Given the description of an element on the screen output the (x, y) to click on. 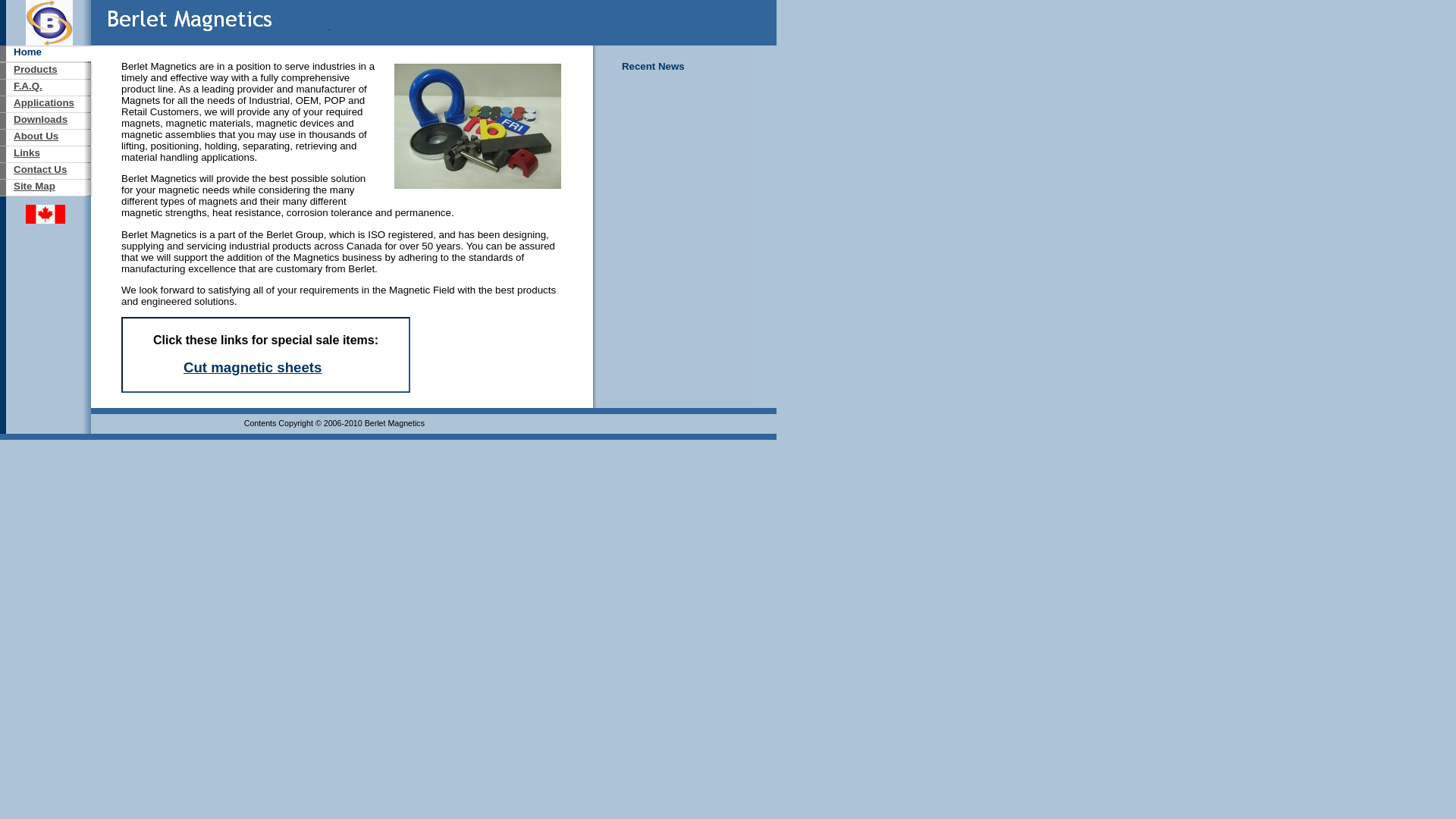
Links Element type: text (26, 152)
Contact Us Element type: text (39, 169)
F.A.Q. Element type: text (27, 85)
Downloads Element type: text (40, 119)
About Us Element type: text (35, 135)
Cut magnetic sheets Element type: text (252, 367)
Applications Element type: text (43, 102)
Products Element type: text (35, 69)
Site Map Element type: text (34, 185)
